Given the description of an element on the screen output the (x, y) to click on. 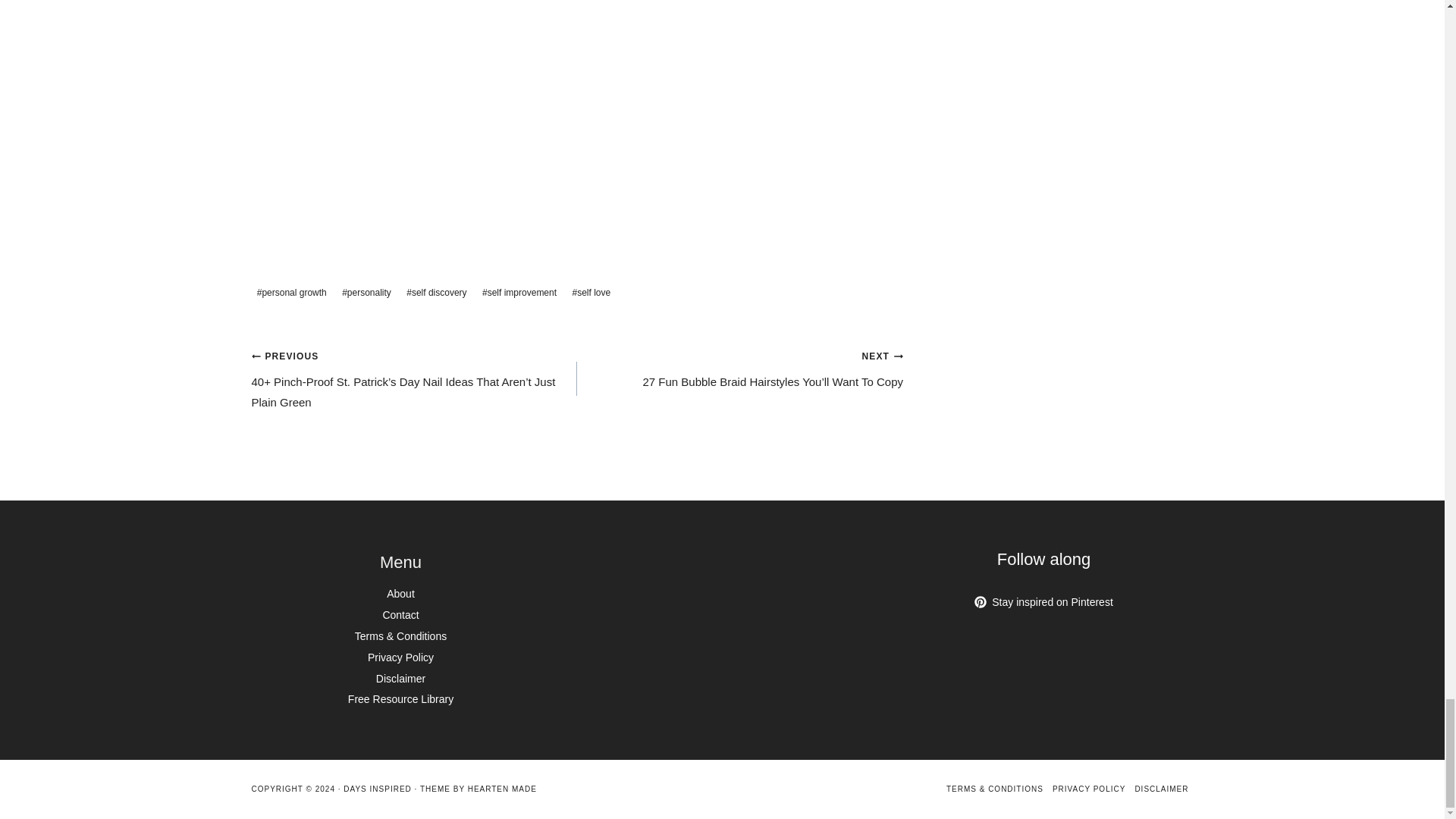
self improvement (519, 293)
personal growth (291, 293)
personality (366, 293)
self discovery (436, 293)
self love (590, 293)
